Given the description of an element on the screen output the (x, y) to click on. 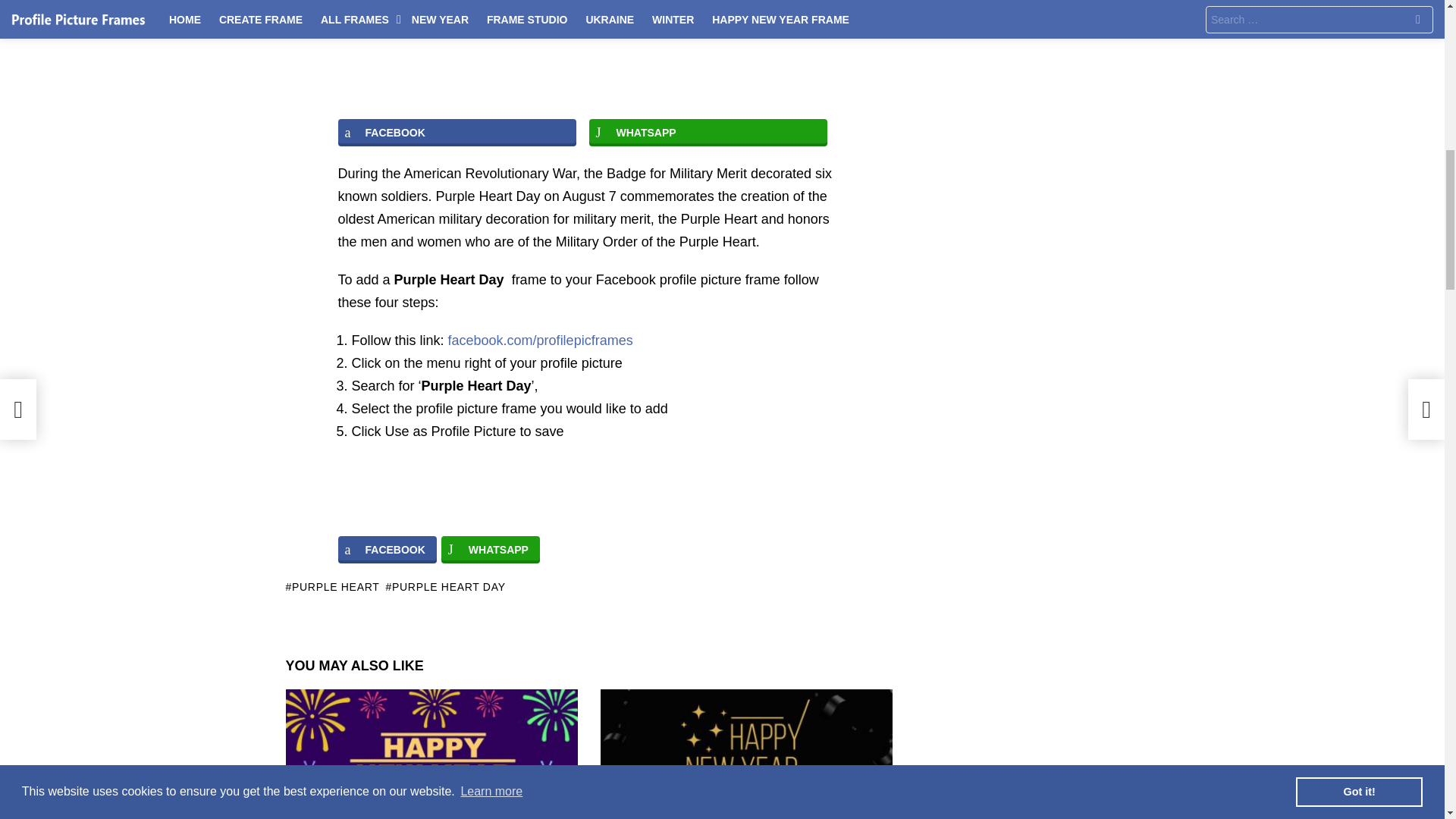
Share on WhatsApp (707, 132)
Happy New Year 2023 Facebook Frame (430, 754)
Advertisement (588, 51)
Happy New Year Images and Pictures for Facebook Frame 2023 (745, 754)
Share on Facebook (386, 549)
Share on Facebook (456, 132)
Share on WhatsApp (490, 549)
